Given the description of an element on the screen output the (x, y) to click on. 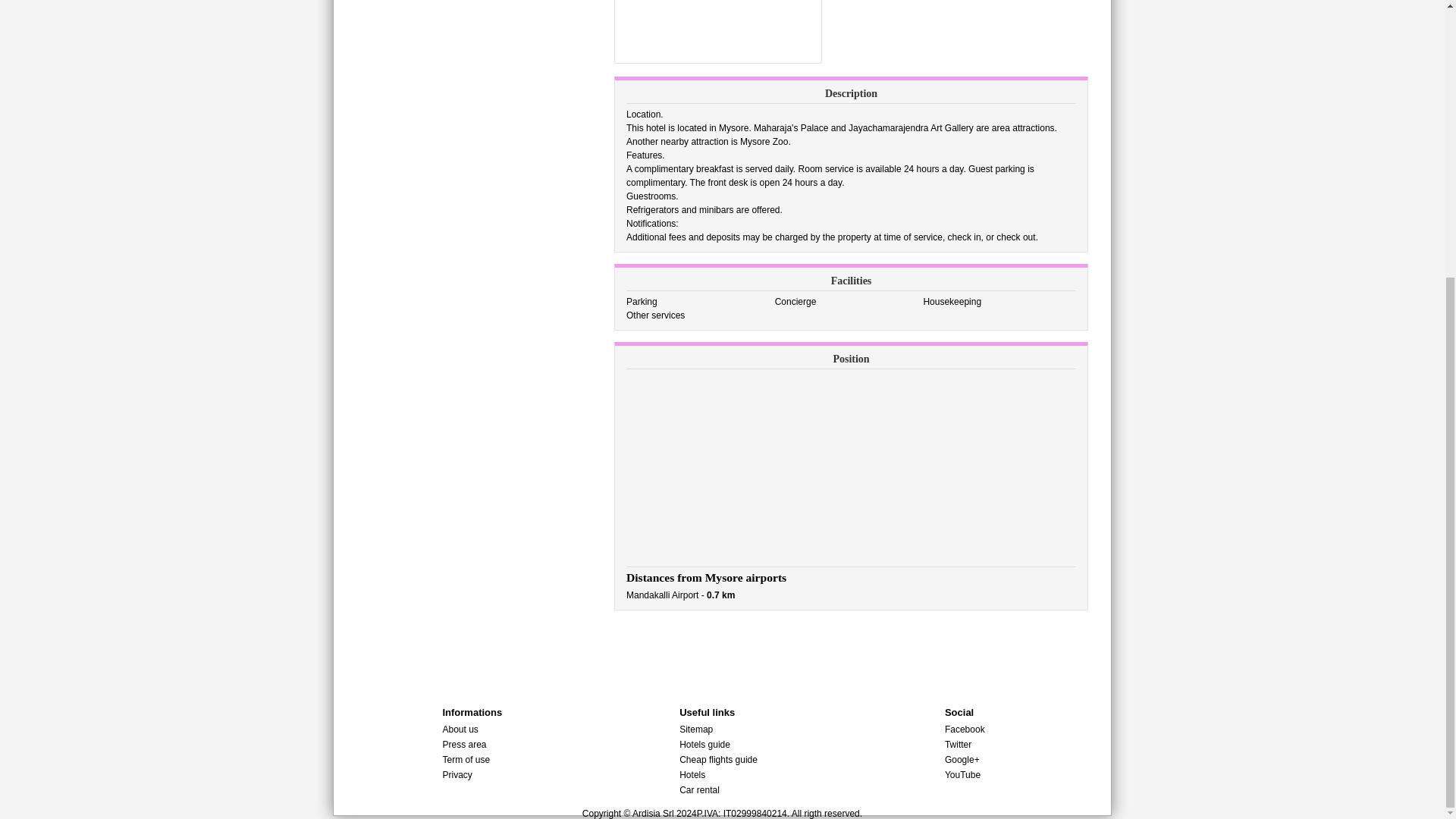
Sitemap (696, 728)
About us (459, 728)
Twitter (957, 744)
YouTube (961, 774)
Press area (464, 744)
Car rental (699, 789)
Term of use (465, 759)
Hotels guide (704, 744)
Press area (464, 744)
Site map (696, 728)
Facebook (964, 728)
Hotels (691, 774)
Cheap flights guide (718, 759)
About us (459, 728)
Hotels guide (704, 744)
